Given the description of an element on the screen output the (x, y) to click on. 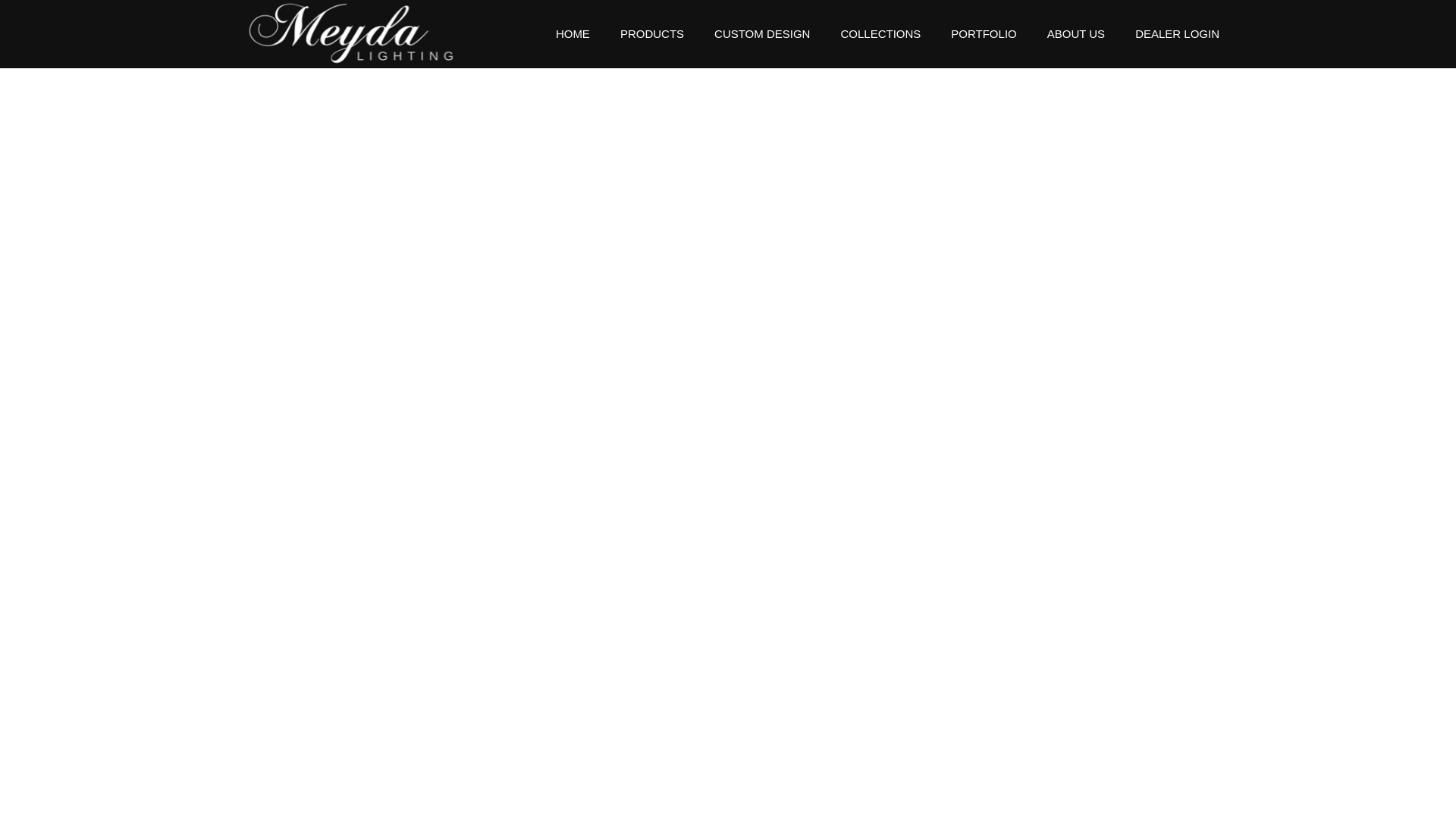
HOME (572, 33)
Meyda Lighting Custom Design Landing Page (761, 33)
Meyda Lighting Home Page (345, 7)
PRODUCTS (651, 33)
Meyda Lighting Home Page (572, 33)
Meyda Lighting (345, 33)
